Given the description of an element on the screen output the (x, y) to click on. 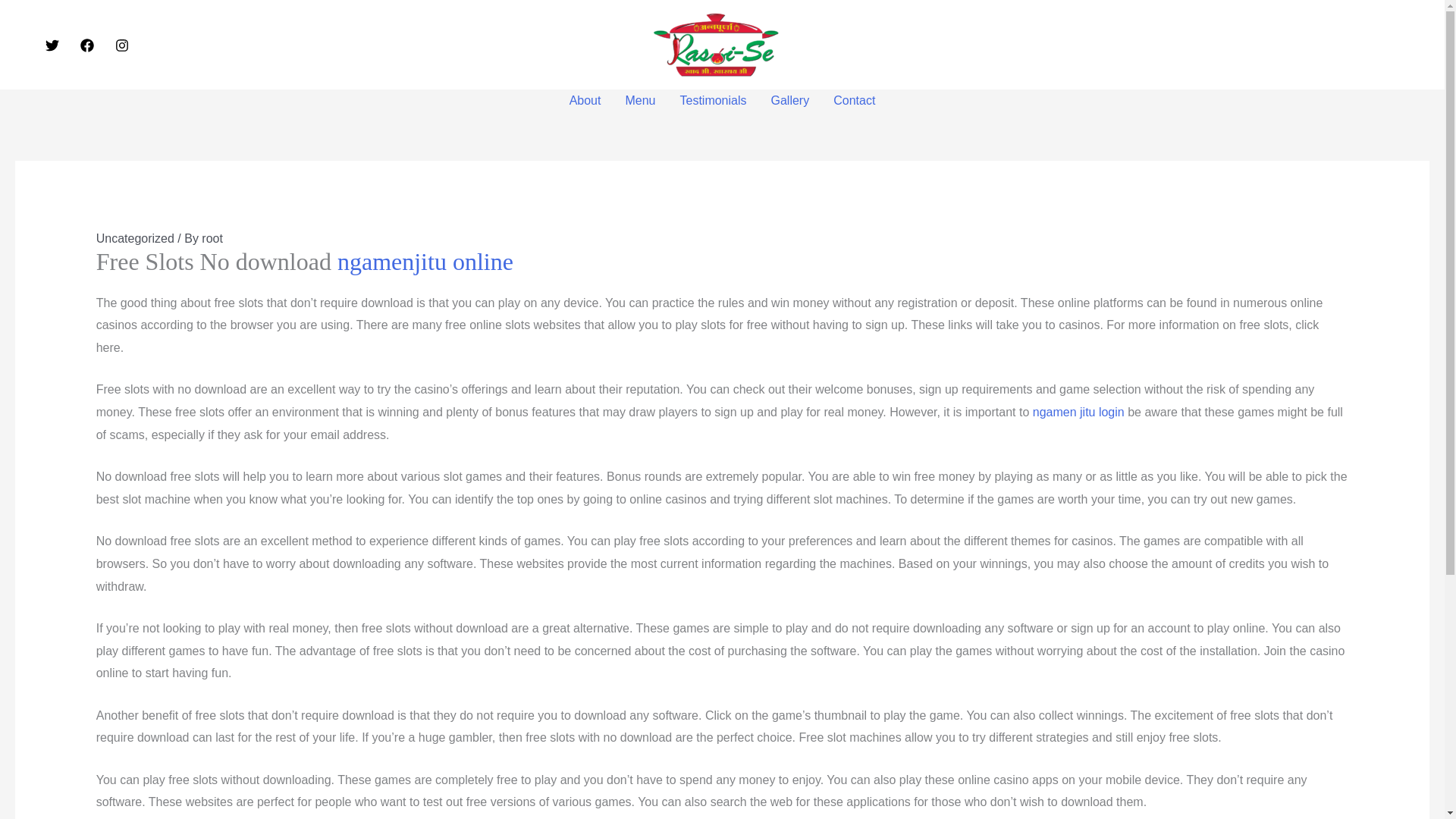
About (584, 100)
Contact (853, 100)
Gallery (790, 100)
root (212, 237)
ngamen jitu login (1078, 411)
Testimonials (712, 100)
Menu (639, 100)
ngamenjitu online (425, 261)
View all posts by root (212, 237)
Uncategorized (135, 237)
